Given the description of an element on the screen output the (x, y) to click on. 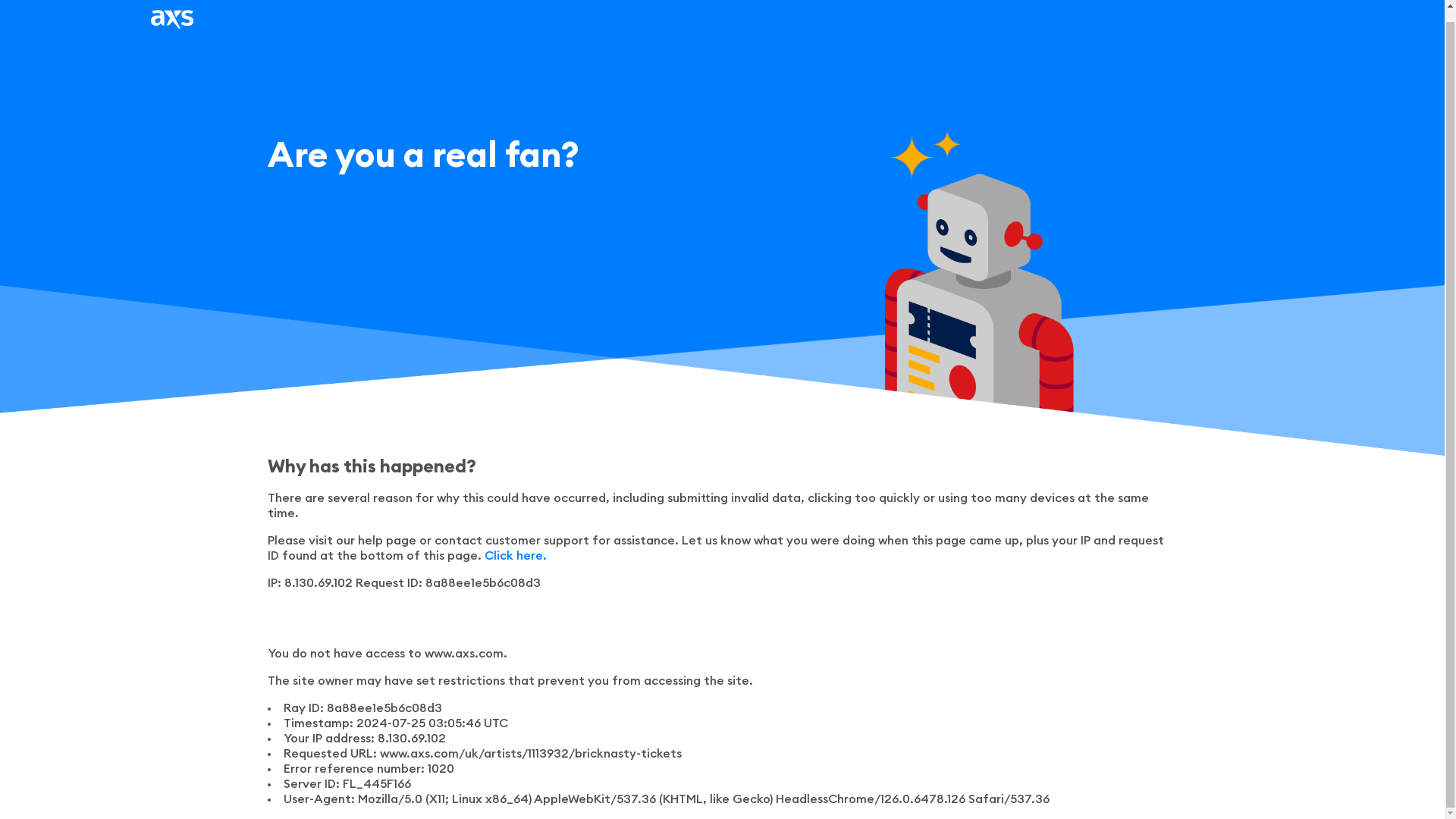
Click here. (514, 555)
